Given the description of an element on the screen output the (x, y) to click on. 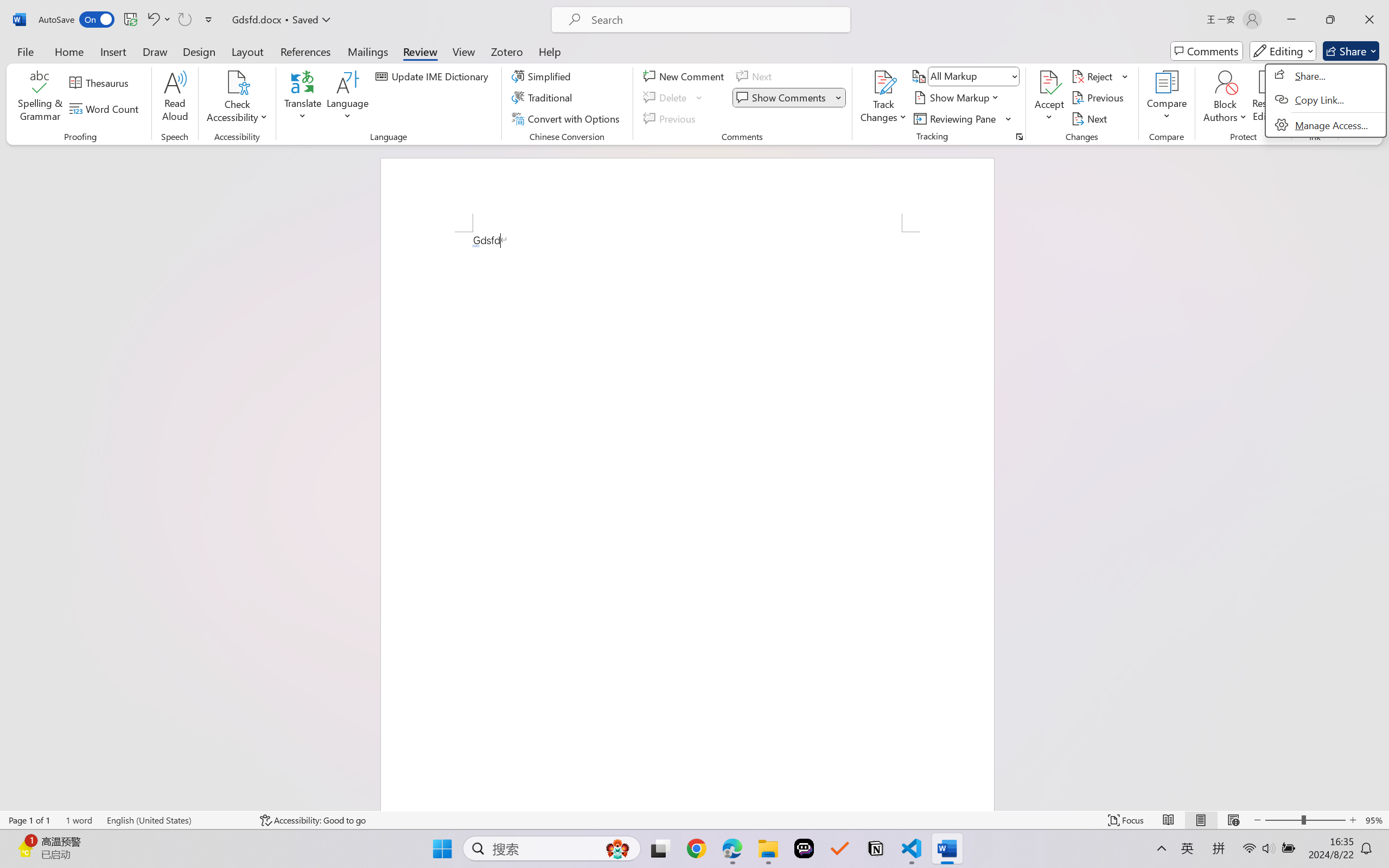
Convert with Options... (567, 118)
Reject and Move to Next (1093, 75)
Class: NetUIScrollBar (1382, 477)
Google Chrome (696, 848)
Page 1 content (687, 521)
Display for Review (973, 75)
